Given the description of an element on the screen output the (x, y) to click on. 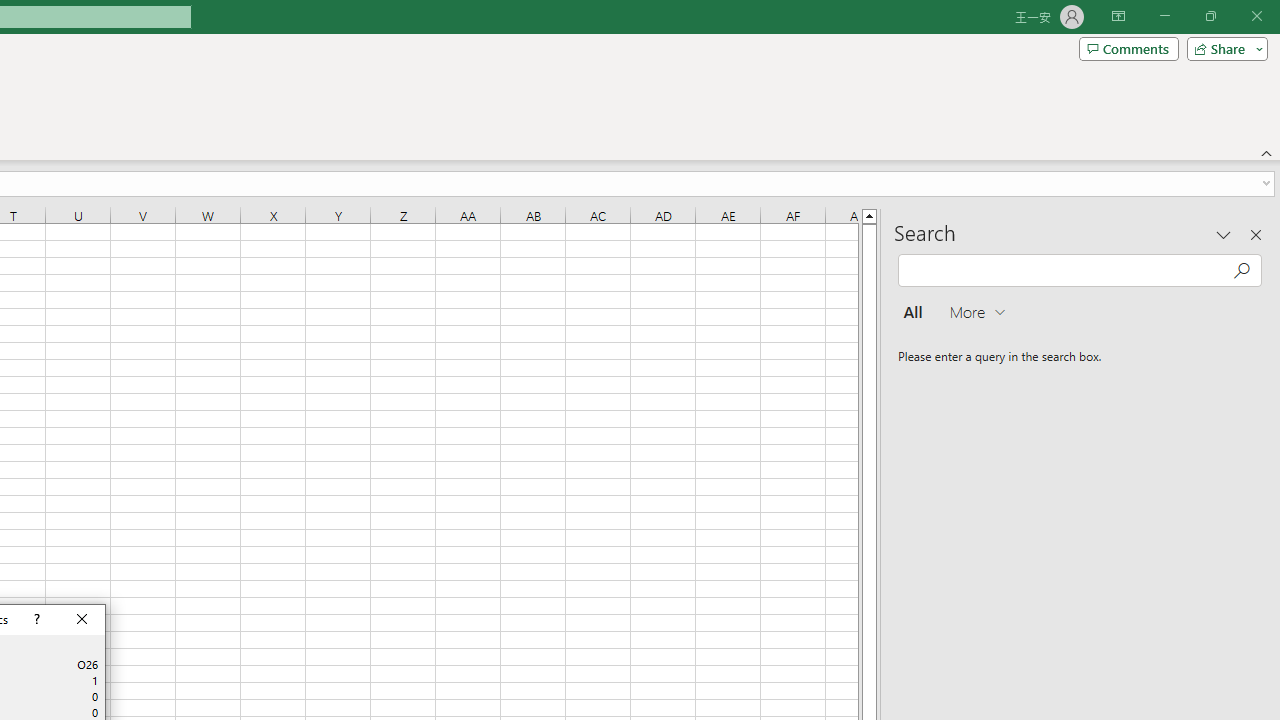
Context help (34, 619)
